Given the description of an element on the screen output the (x, y) to click on. 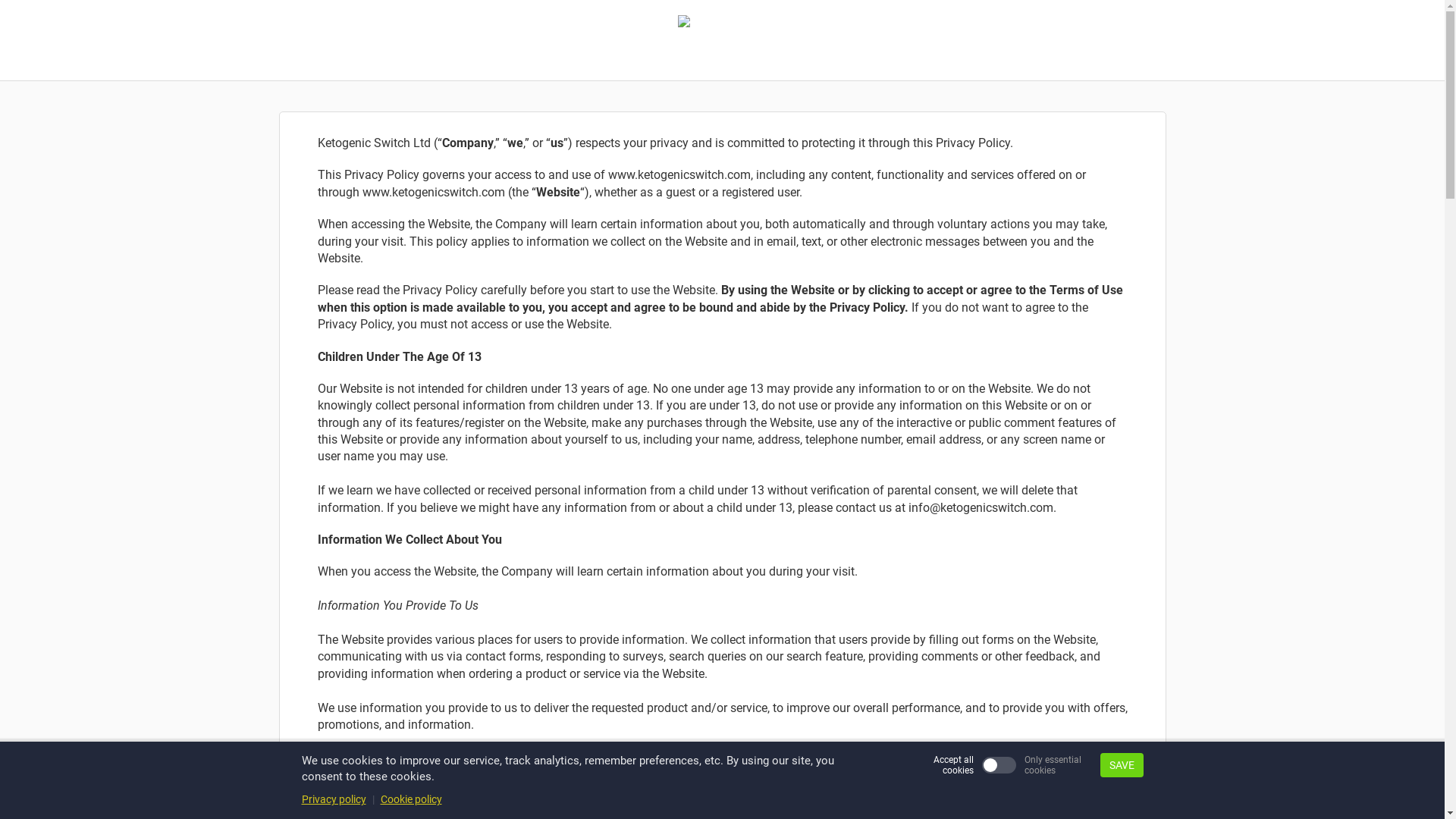
Privacy policy Element type: text (333, 799)
Cookie policy Element type: text (411, 799)
SAVE Element type: text (1120, 765)
